Given the description of an element on the screen output the (x, y) to click on. 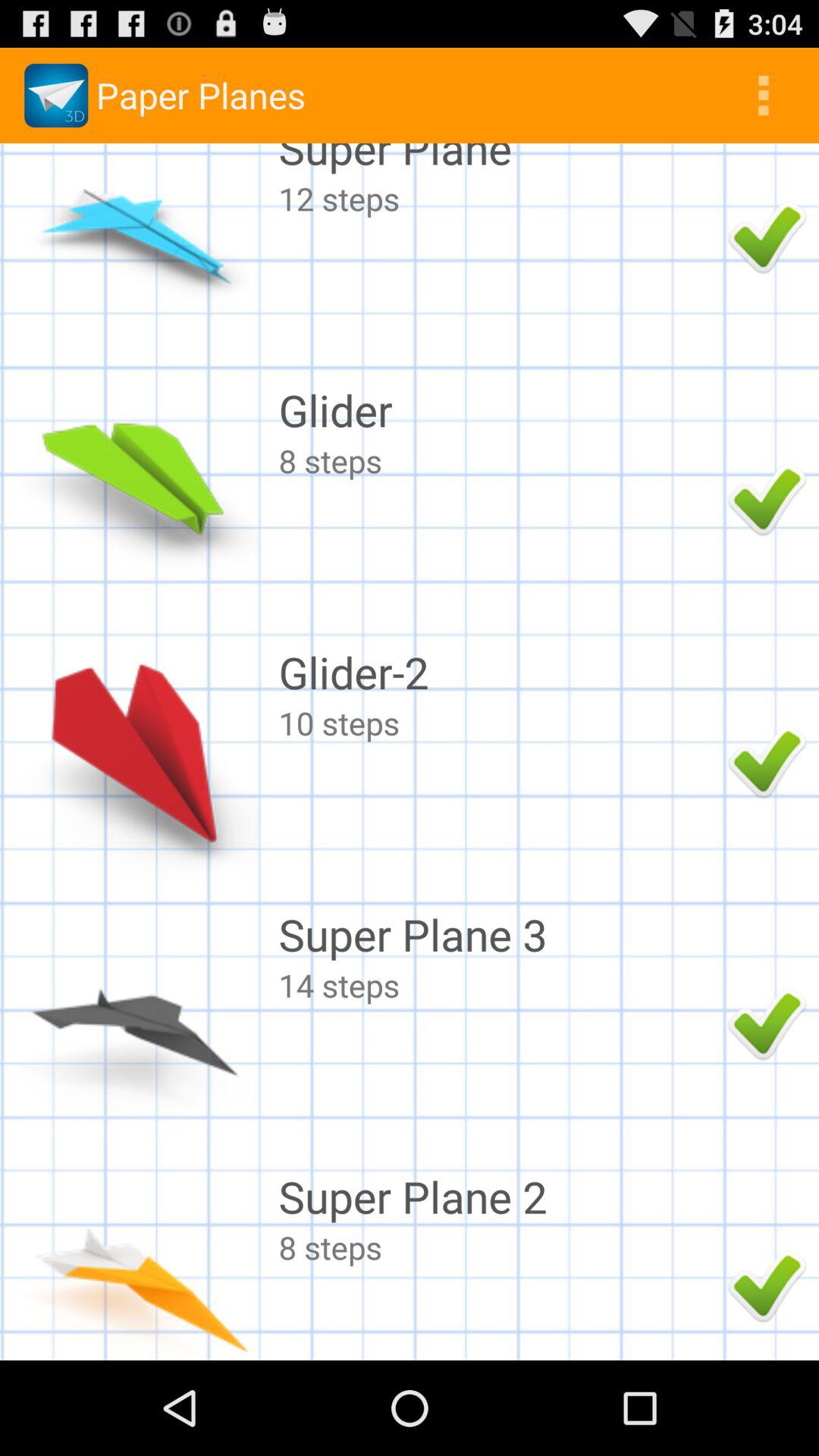
click item above super plane 3 icon (498, 722)
